Given the description of an element on the screen output the (x, y) to click on. 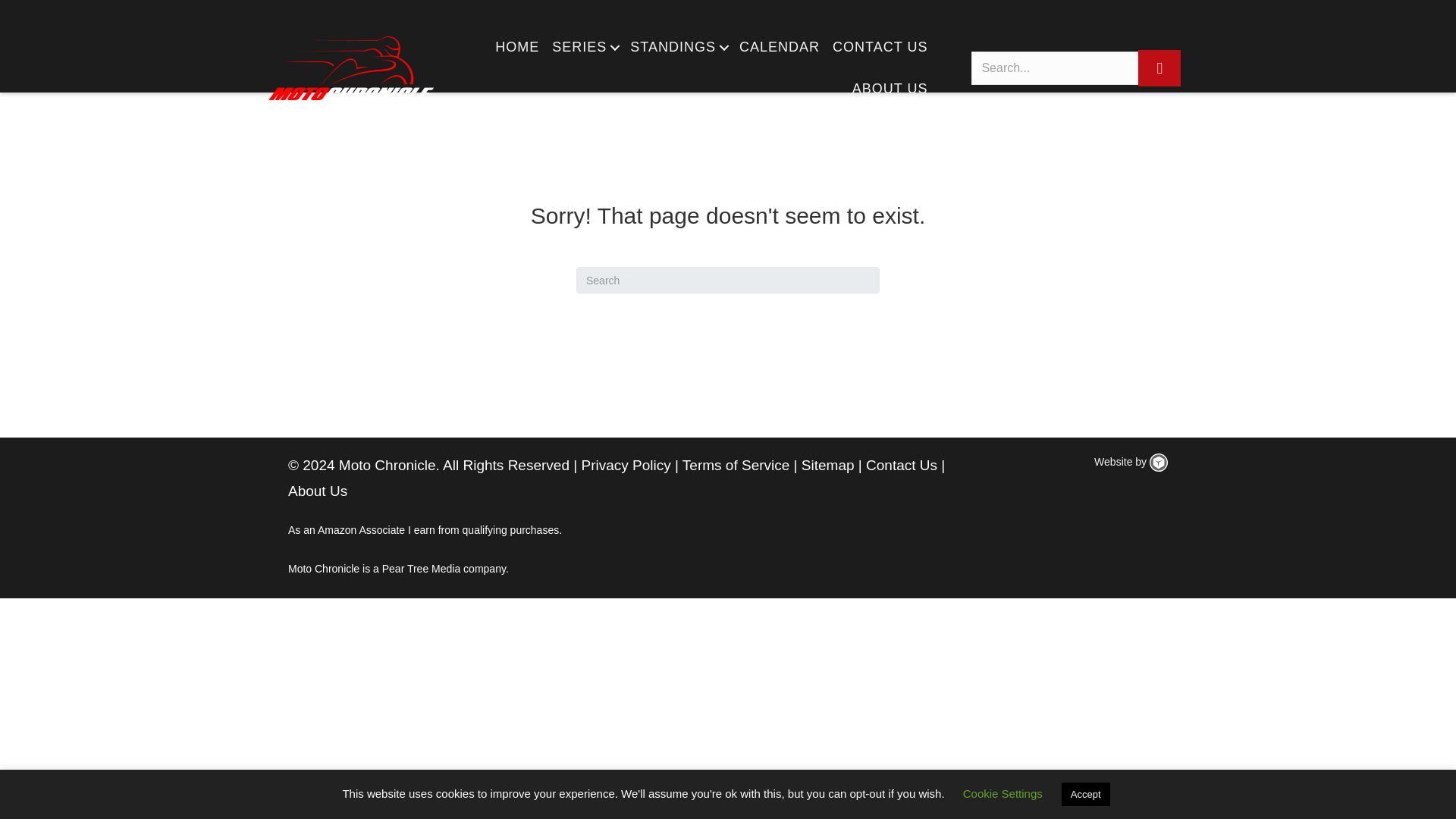
CALENDAR (779, 46)
STANDINGS (678, 46)
moto chronicle logo (350, 68)
HOME (516, 46)
Type and press Enter to search. (727, 279)
Contact Us (901, 465)
Terms of Service (735, 465)
Privacy Policy (624, 465)
ABOUT US (889, 88)
SERIES (584, 46)
Pear Tree Media (421, 568)
CONTACT US (880, 46)
Sitemap (828, 465)
About Us (317, 490)
Singapore WordPress Developer (1158, 462)
